Given the description of an element on the screen output the (x, y) to click on. 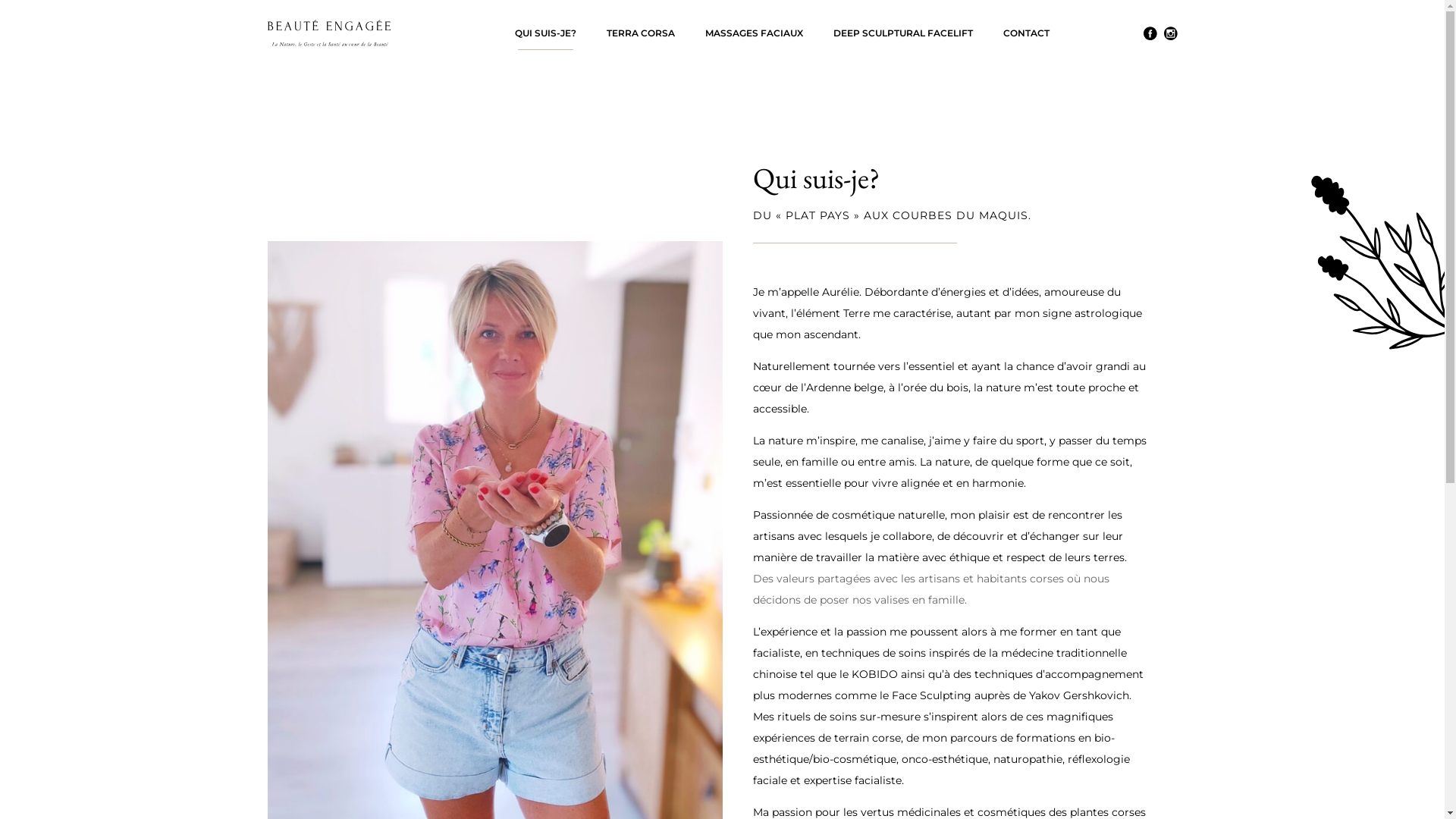
CONTACT Element type: text (1025, 33)
MASSAGES FACIAUX Element type: text (754, 33)
QUI SUIS-JE? Element type: text (544, 33)
TERRA CORSA Element type: text (640, 33)
Instagram Element type: text (1169, 33)
Facebook Element type: text (1150, 33)
DEEP SCULPTURAL FACELIFT Element type: text (902, 33)
